Given the description of an element on the screen output the (x, y) to click on. 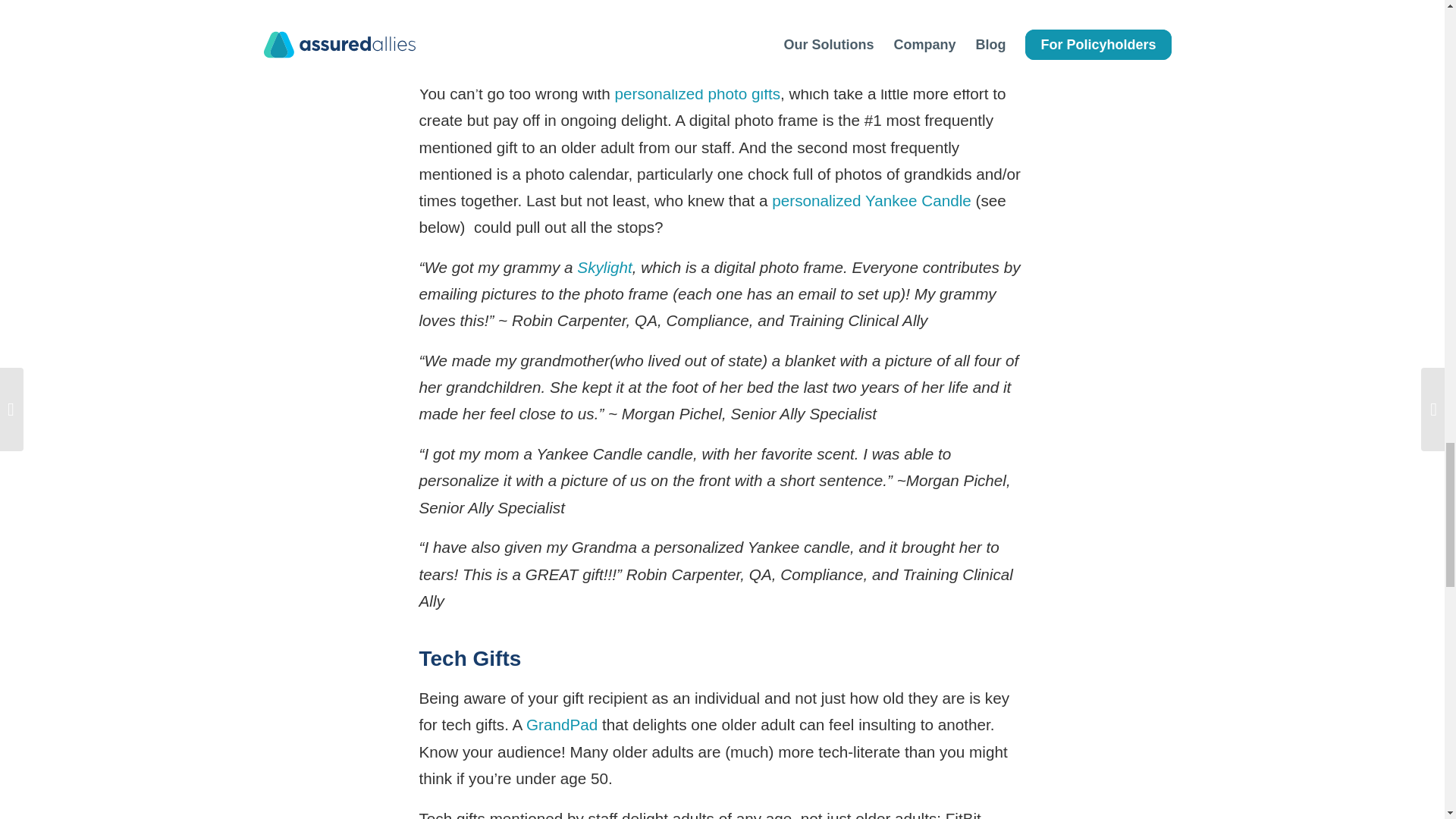
Skylight (603, 267)
GrandPad (560, 724)
personalized Yankee Candle (871, 200)
personalized photo gifts (697, 93)
